Given the description of an element on the screen output the (x, y) to click on. 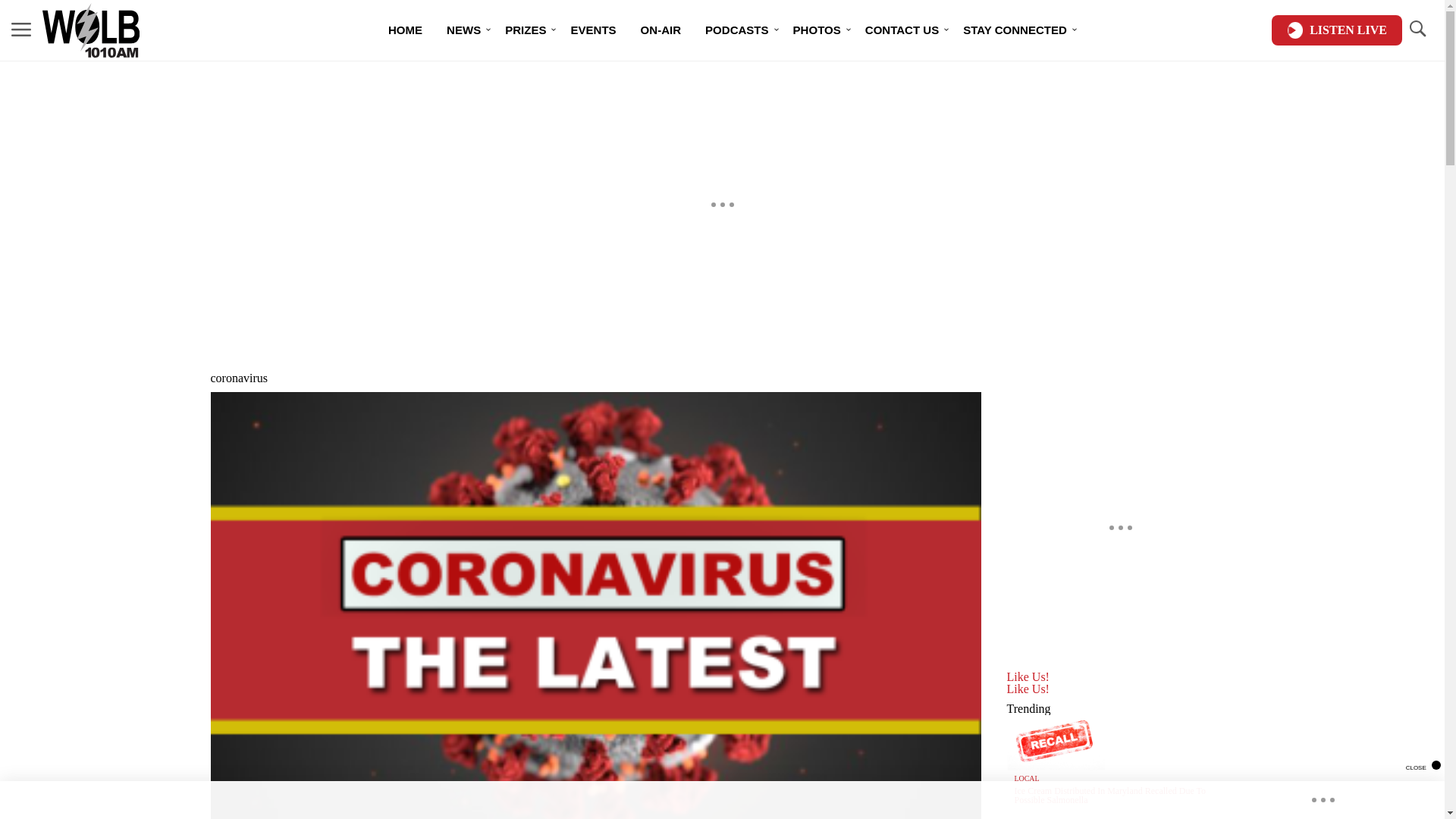
MENU (20, 30)
NEWS (463, 30)
HOME (404, 30)
PRIZES (525, 30)
LISTEN LIVE (1336, 30)
ON-AIR (660, 30)
EVENTS (592, 30)
MENU (20, 29)
STAY CONNECTED (1014, 30)
PHOTOS (816, 30)
CONTACT US (901, 30)
TOGGLE SEARCH (1417, 30)
PODCASTS (736, 30)
TOGGLE SEARCH (1417, 28)
